Given the description of an element on the screen output the (x, y) to click on. 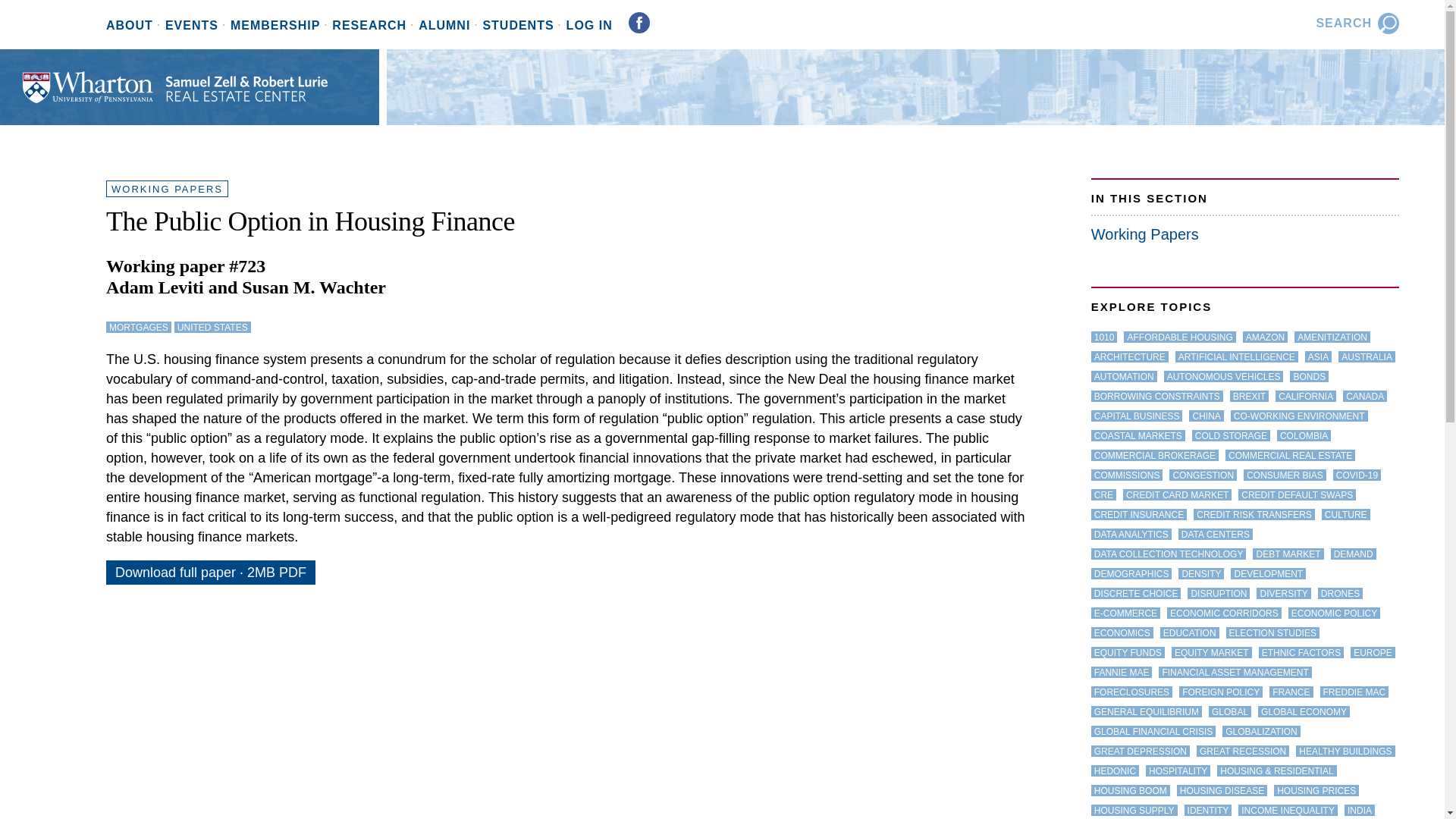
STUDENTS (523, 25)
MEMBERSHIP (280, 25)
ABOUT (135, 25)
ALUMNI (450, 25)
RESEARCH (375, 25)
EVENTS (197, 25)
LOG IN (593, 25)
SEARCH (1353, 23)
